Given the description of an element on the screen output the (x, y) to click on. 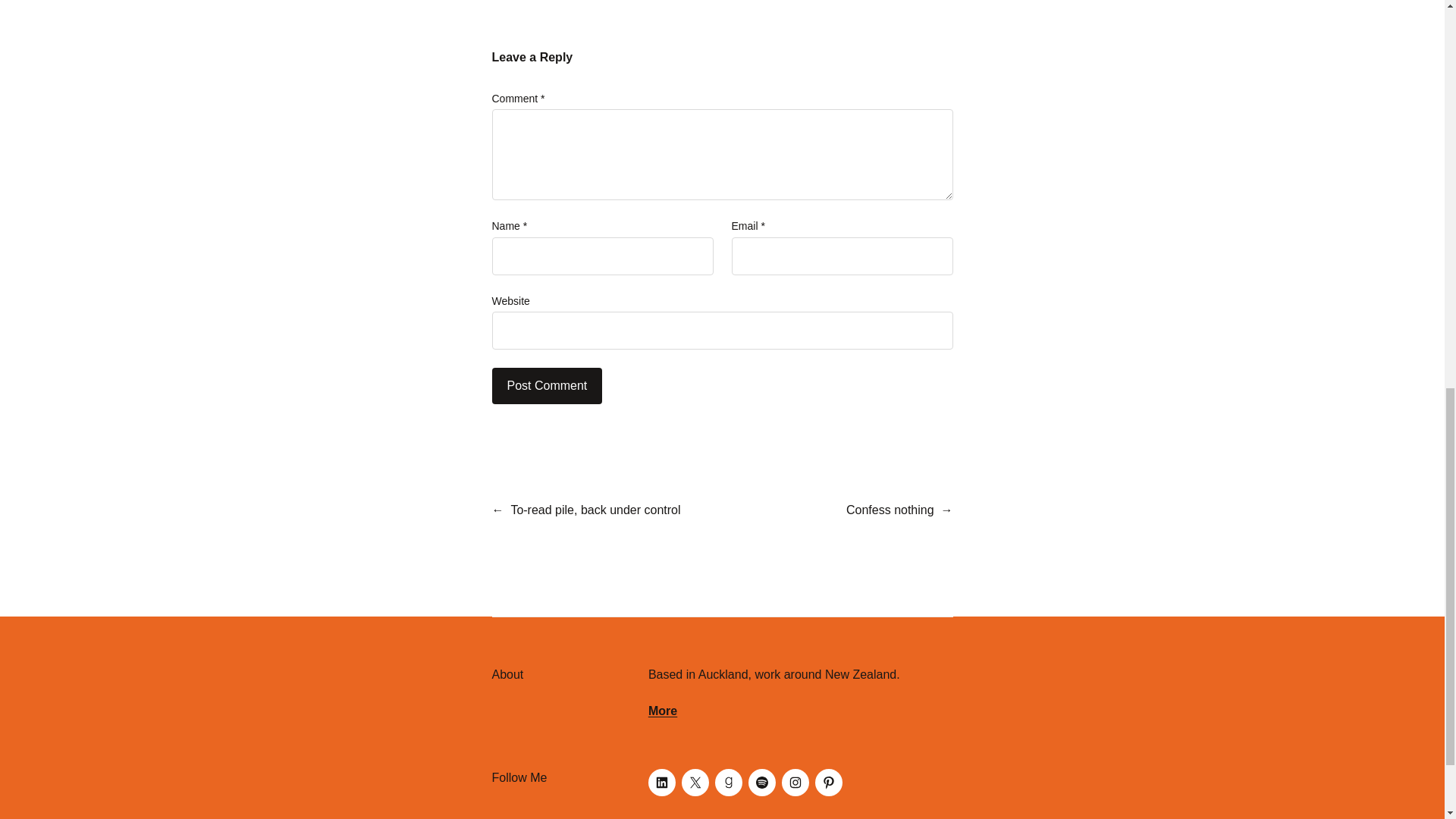
LinkedIn (661, 782)
Confess nothing (889, 509)
Instagram (795, 782)
Goodreads (728, 782)
Post Comment (547, 385)
Pinterest (829, 782)
X (695, 782)
To-read pile, back under control (595, 509)
Spotify (762, 782)
More (662, 710)
